Given the description of an element on the screen output the (x, y) to click on. 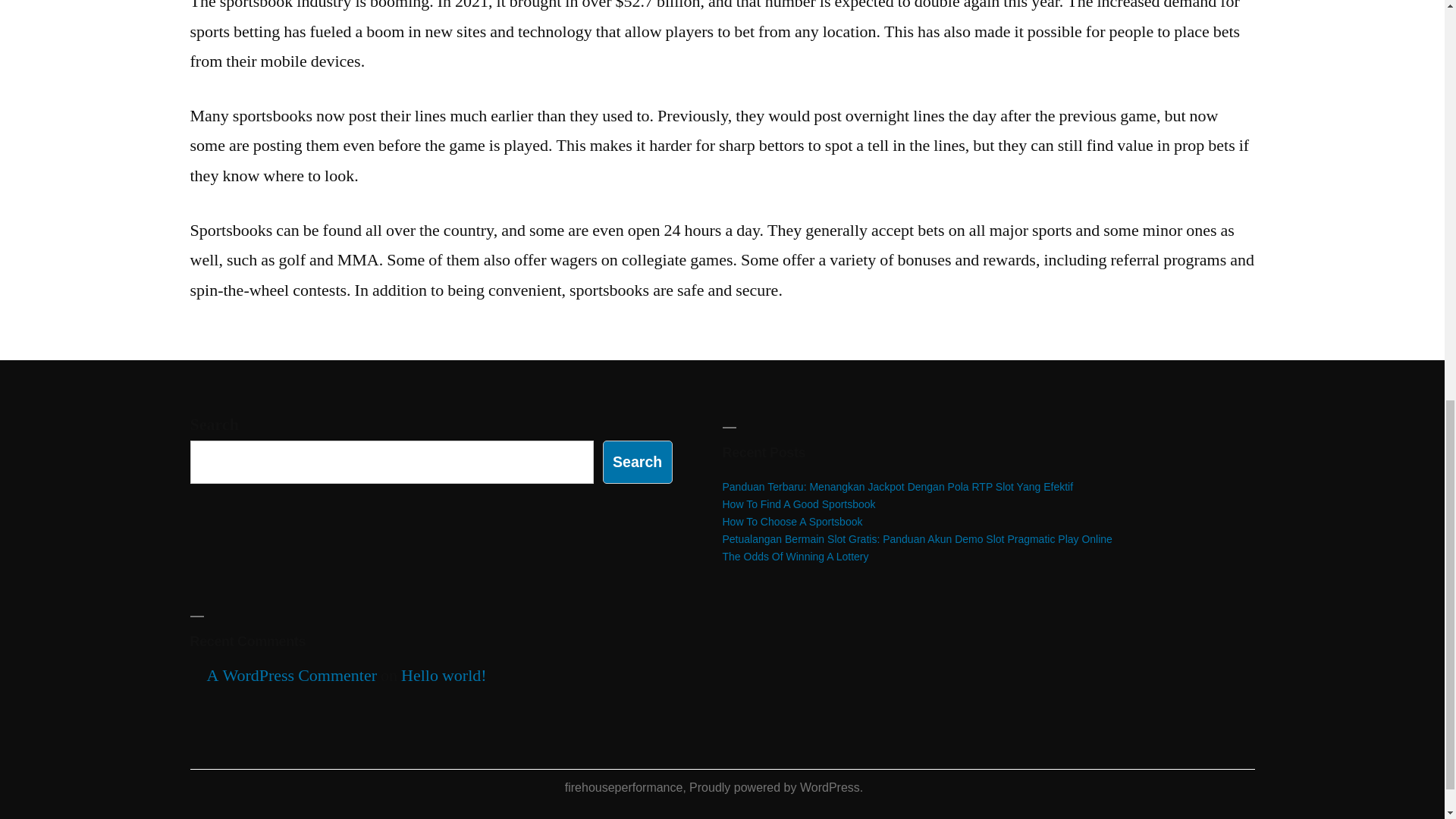
firehouseperformance (623, 787)
The Odds Of Winning A Lottery (794, 556)
Proudly powered by WordPress. (775, 787)
How To Choose A Sportsbook (791, 521)
Search (637, 462)
How To Find A Good Sportsbook (798, 503)
Hello world! (443, 675)
A WordPress Commenter (291, 675)
